Given the description of an element on the screen output the (x, y) to click on. 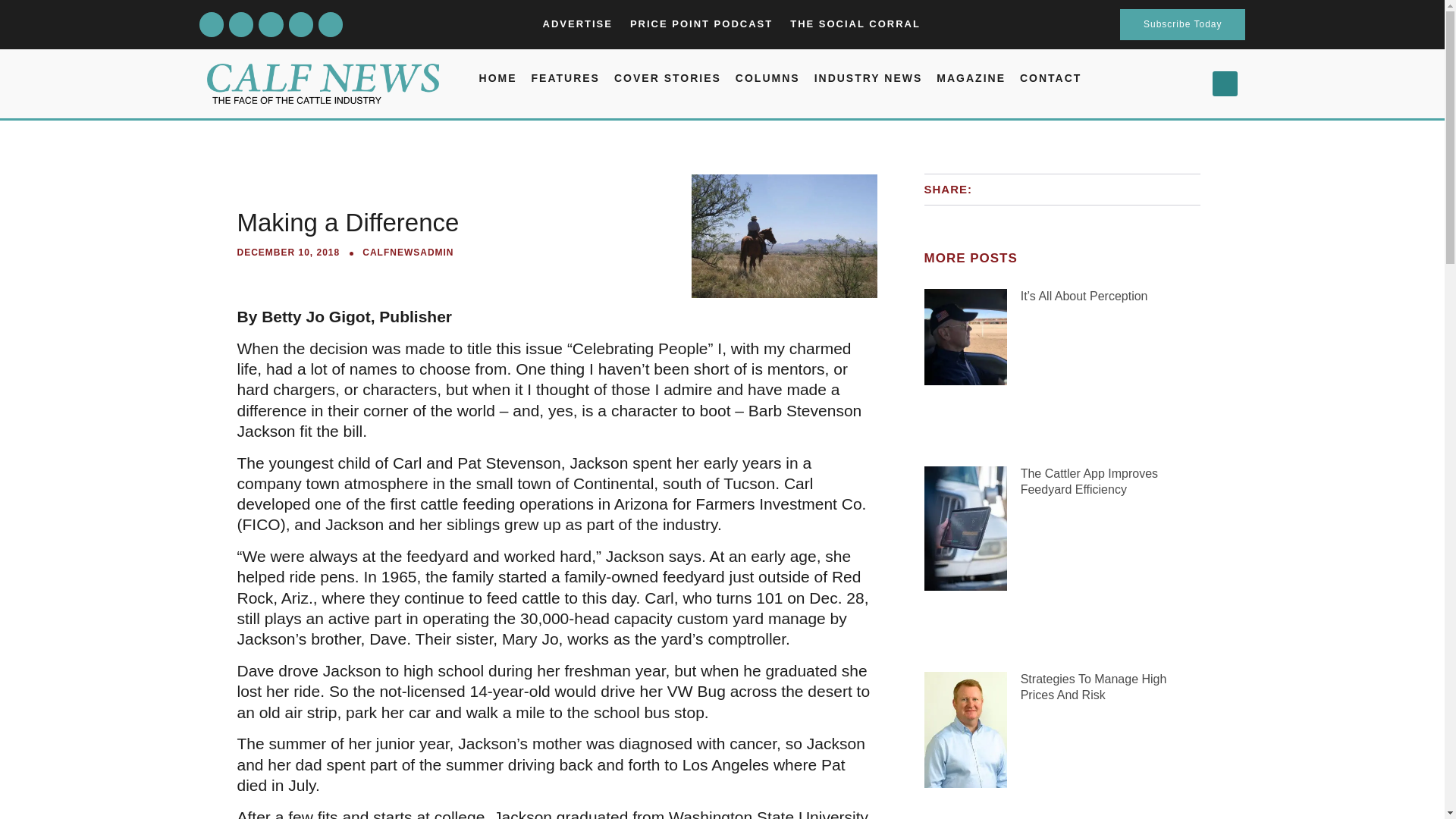
COVER STORIES (667, 78)
HOME (497, 78)
PRICE POINT PODCAST (701, 24)
Subscribe Today (1182, 24)
CONTACT (1050, 78)
COLUMNS (767, 78)
FEATURES (565, 78)
INDUSTRY NEWS (868, 78)
MAGAZINE (971, 78)
THE SOCIAL CORRAL (855, 24)
